Given the description of an element on the screen output the (x, y) to click on. 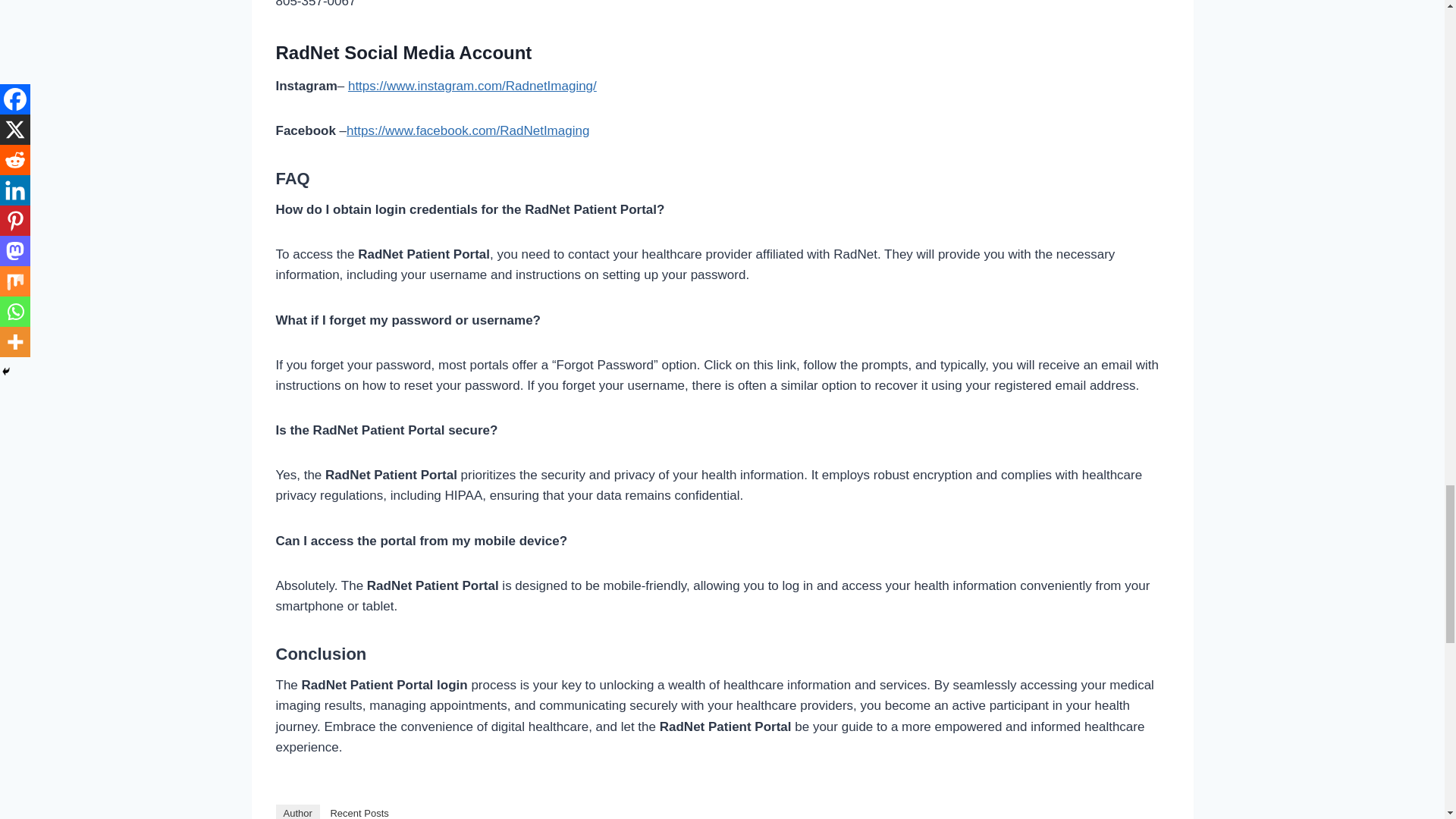
Author (298, 811)
Recent Posts (358, 811)
